Given the description of an element on the screen output the (x, y) to click on. 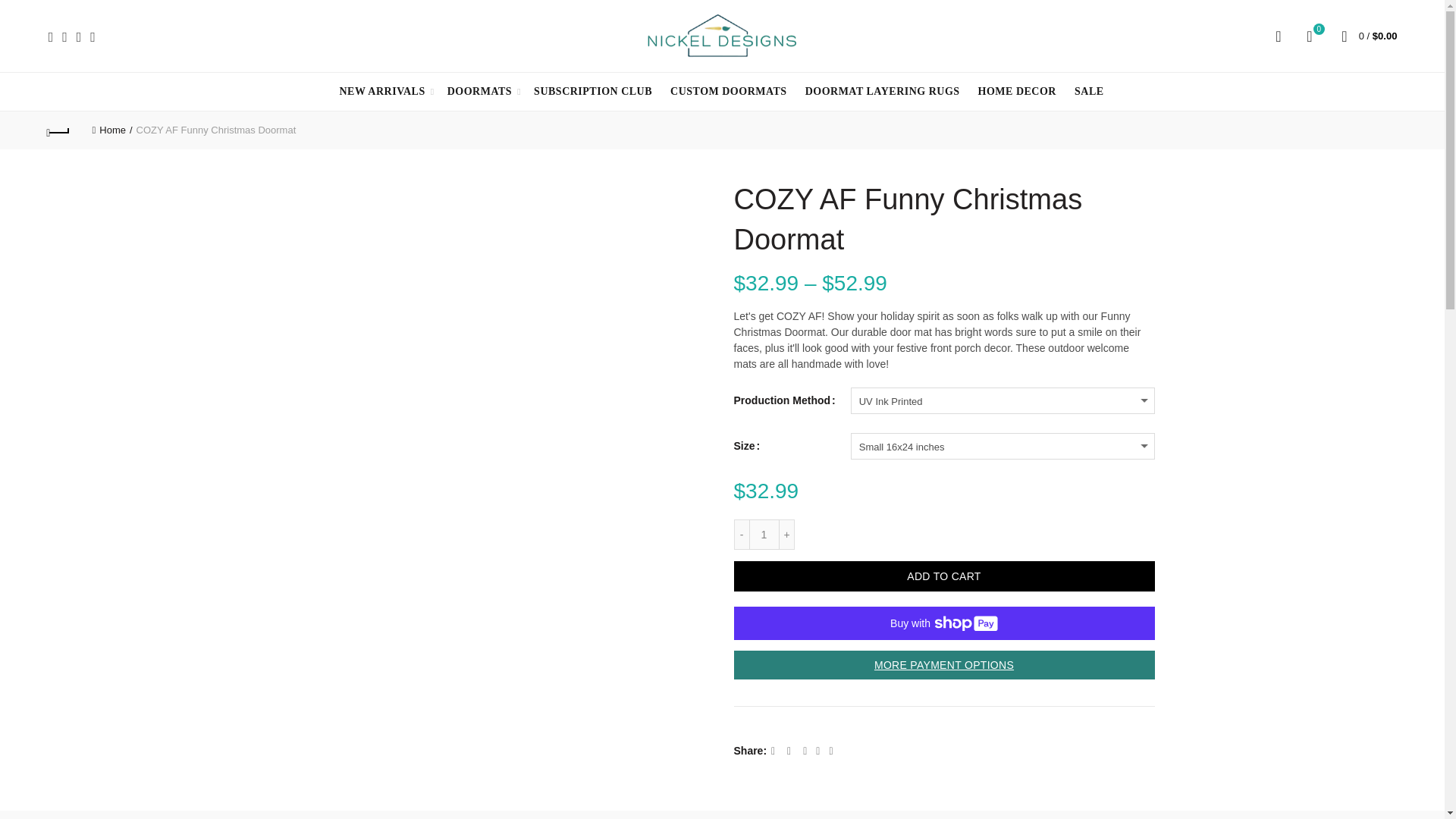
Qty (763, 534)
1 (763, 534)
NEW ARRIVALS (1309, 35)
DOORMATS (381, 91)
